Given the description of an element on the screen output the (x, y) to click on. 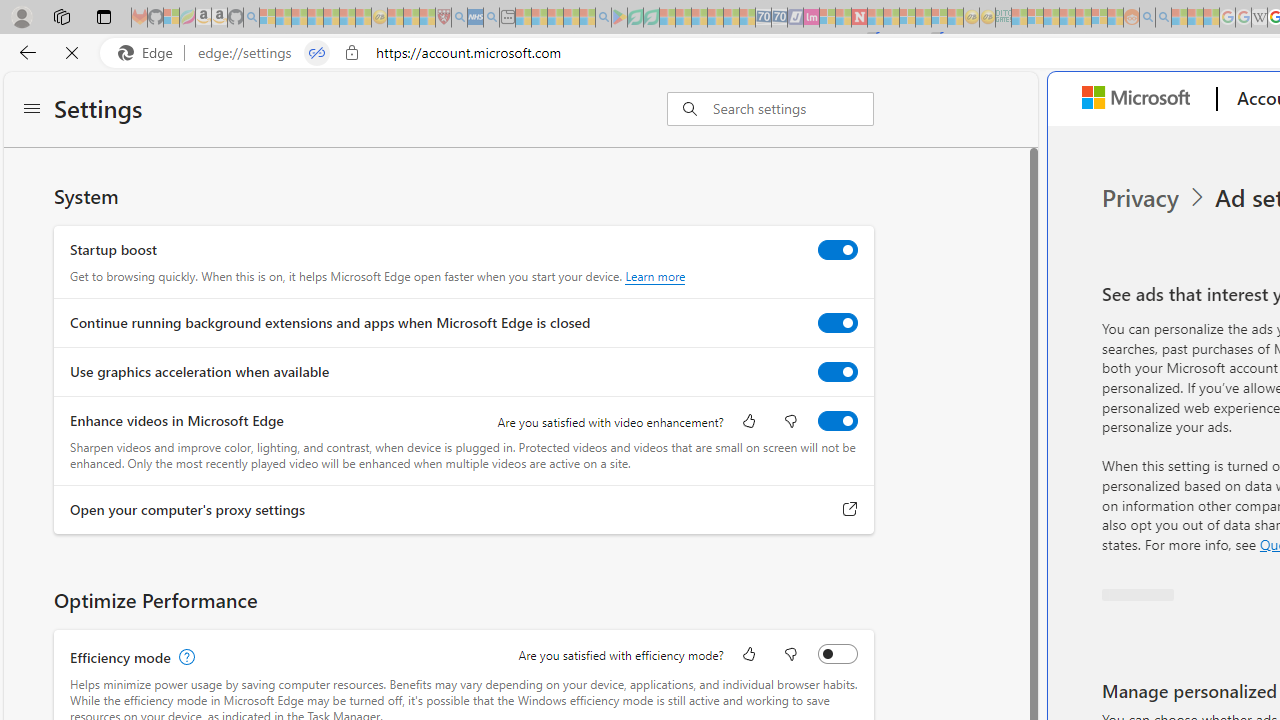
Settings menu (31, 110)
DITOGAMES AG Imprint - Sleeping (1003, 17)
MSNBC - MSN - Sleeping (1019, 17)
Latest Politics News & Archive | Newsweek.com - Sleeping (859, 17)
Expert Portfolios - Sleeping (1067, 17)
